Given the description of an element on the screen output the (x, y) to click on. 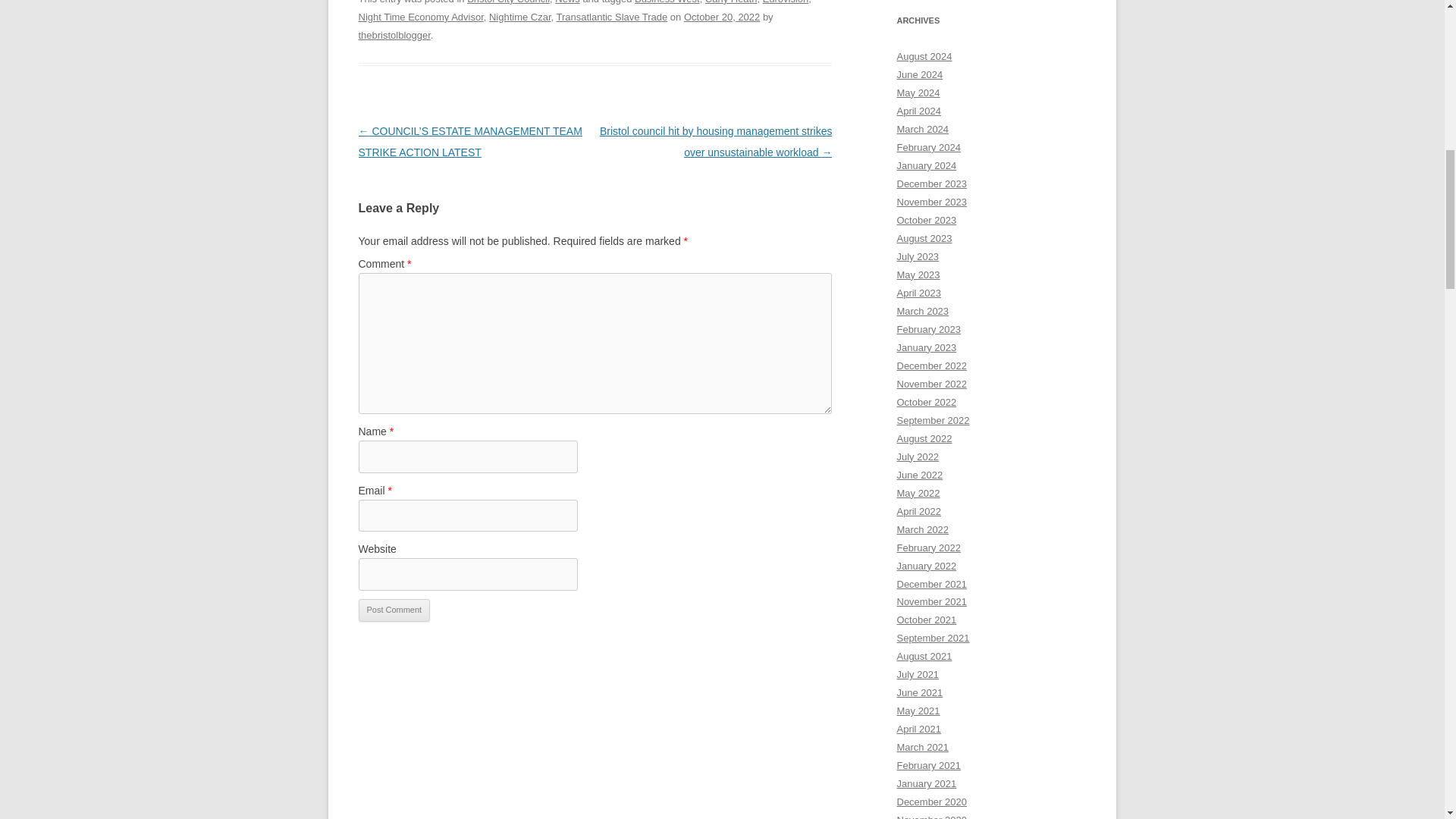
Night Time Economy Advisor (420, 16)
Transatlantic Slave Trade (612, 16)
11:35 am (722, 16)
News (566, 2)
Business West (667, 2)
thebristolblogger (393, 34)
October 20, 2022 (722, 16)
Post Comment (393, 609)
View all posts by thebristolblogger (393, 34)
Carly Heath (730, 2)
